Given the description of an element on the screen output the (x, y) to click on. 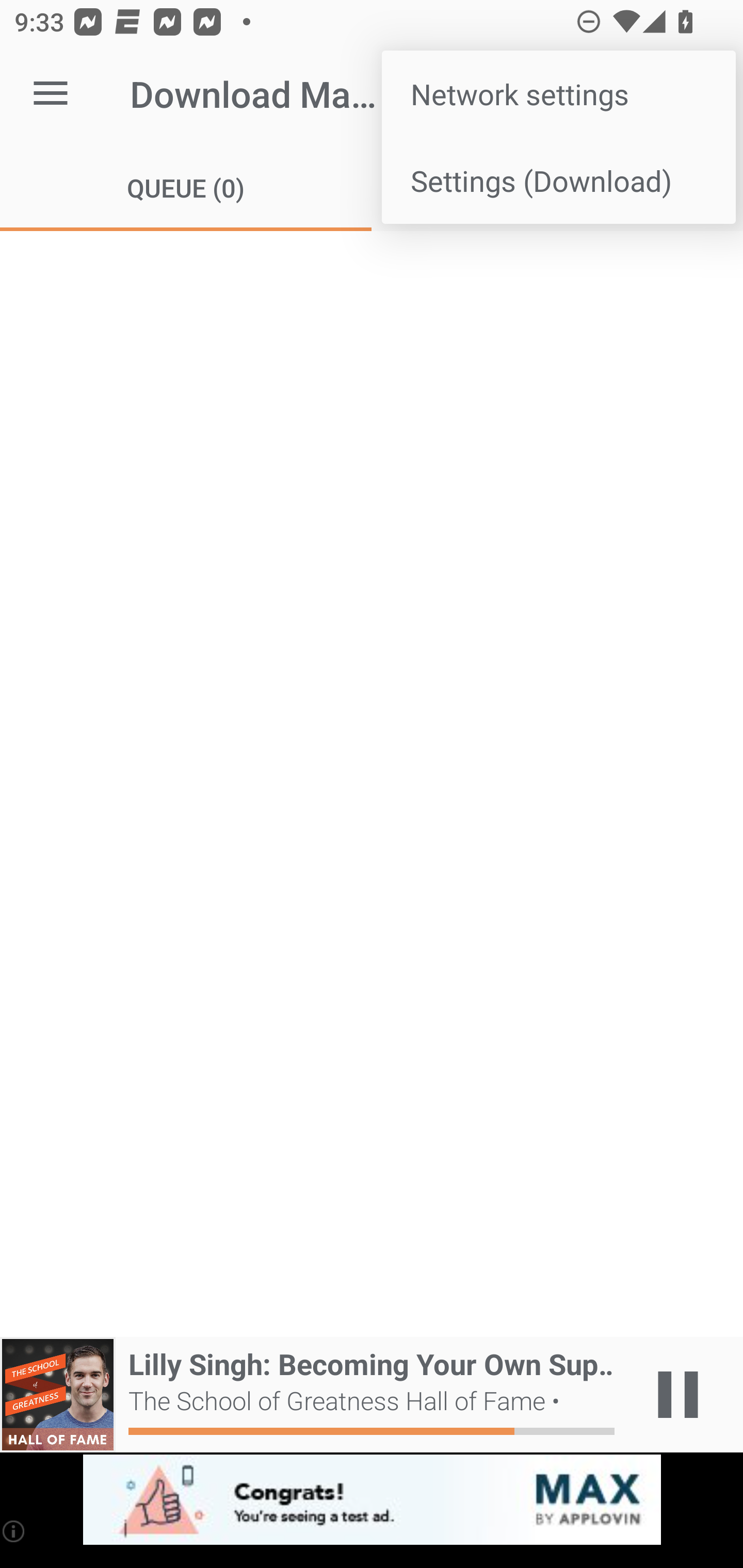
Network settings (558, 93)
Settings (Download) (558, 180)
